Given the description of an element on the screen output the (x, y) to click on. 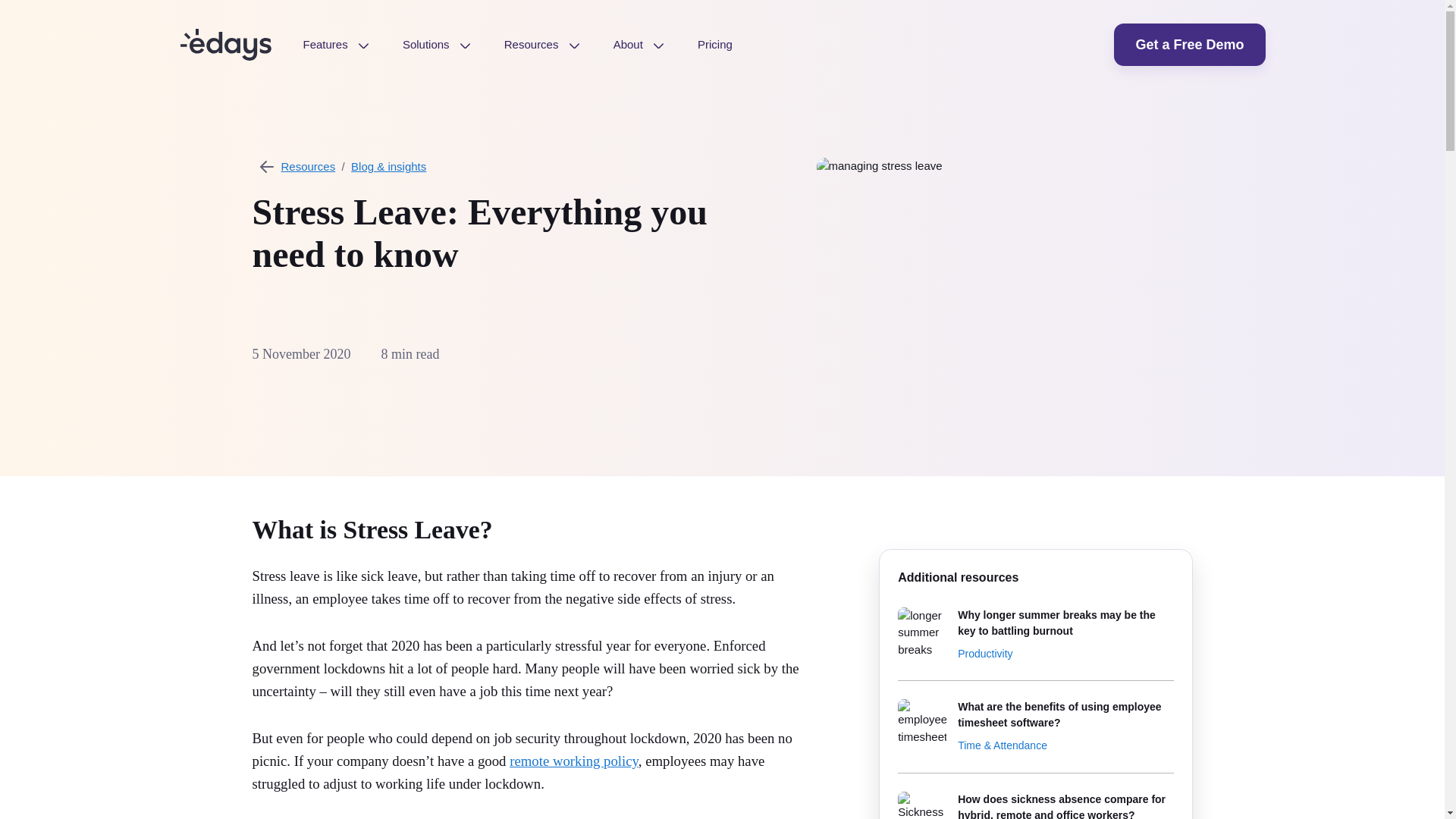
About (637, 43)
Resources (541, 43)
Solutions (436, 43)
Features (335, 43)
